Given the description of an element on the screen output the (x, y) to click on. 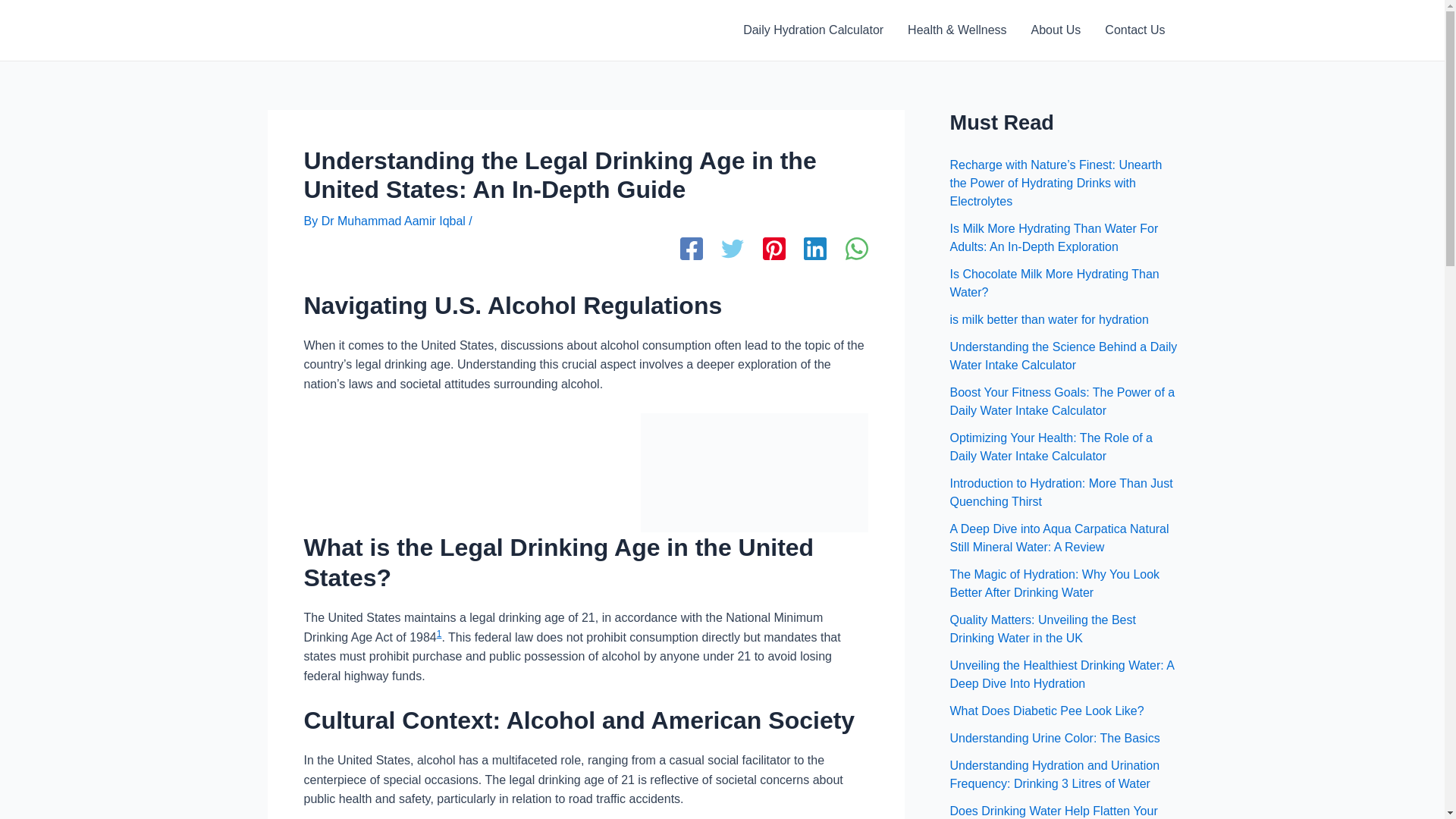
View all posts by Dr Muhammad Aamir Iqbal (394, 220)
Contact Us (1134, 30)
About Us (1056, 30)
Daily Hydration Calculator (812, 30)
Dr Muhammad Aamir Iqbal (394, 220)
